Given the description of an element on the screen output the (x, y) to click on. 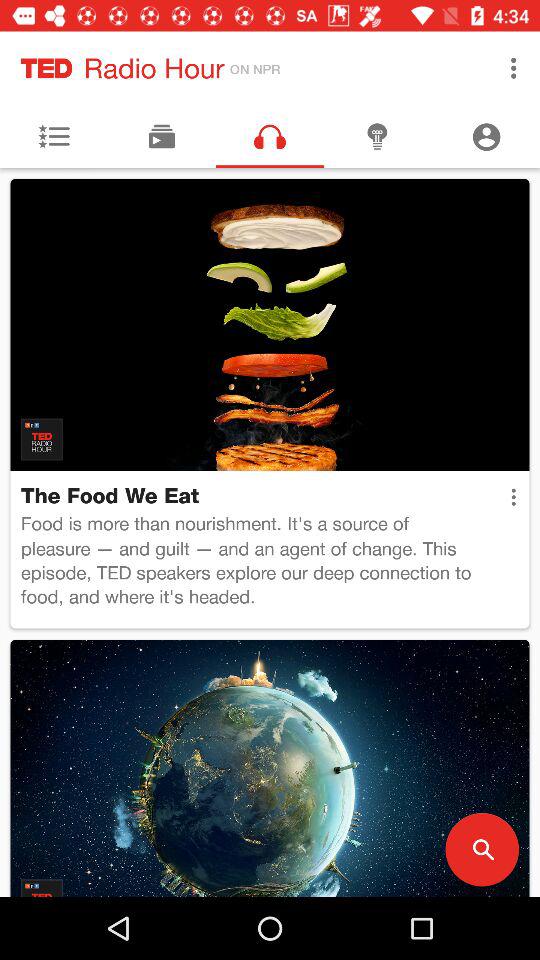
turn off item below food is more (482, 849)
